Given the description of an element on the screen output the (x, y) to click on. 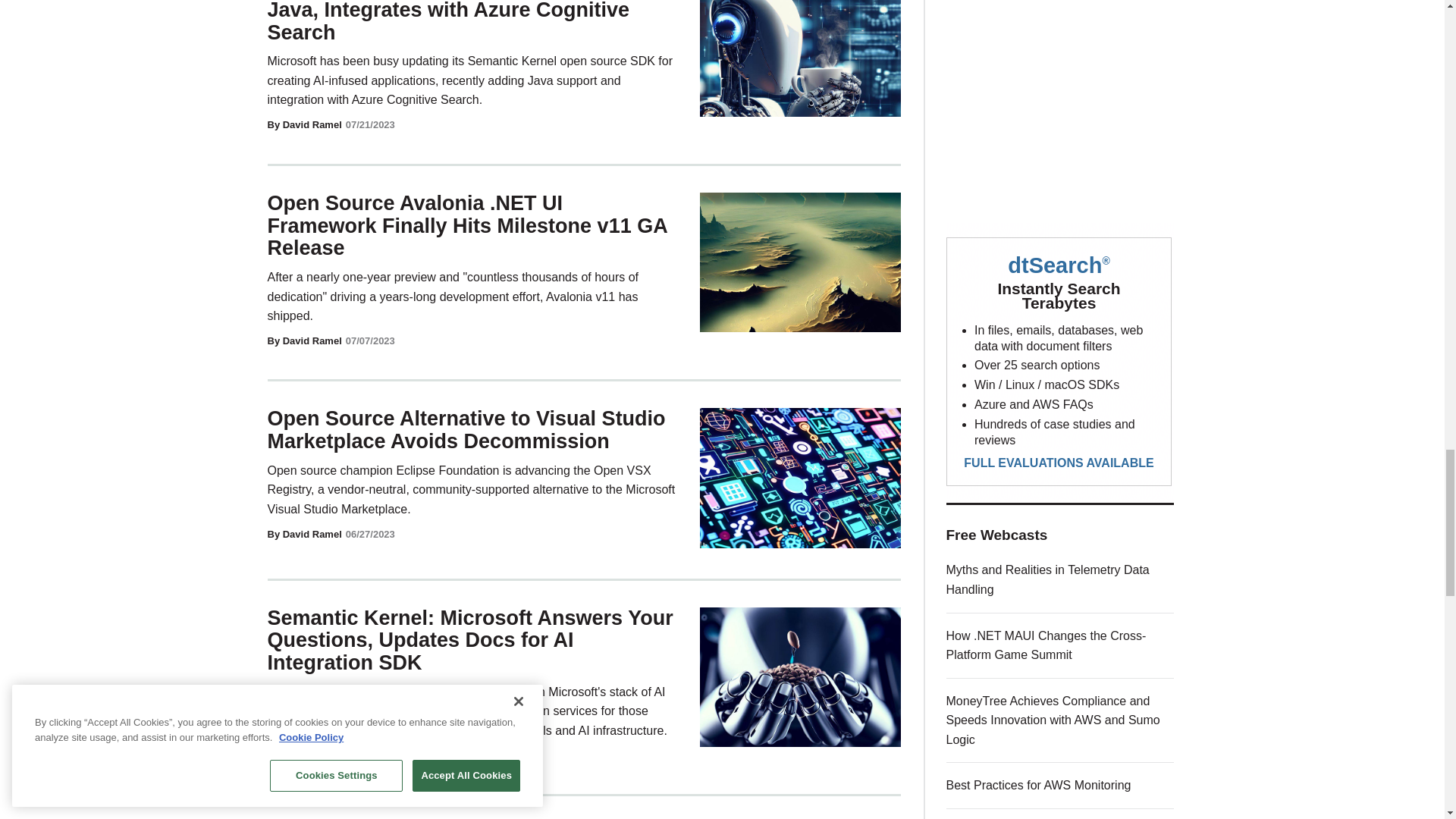
3rd party ad content (1059, 92)
